Given the description of an element on the screen output the (x, y) to click on. 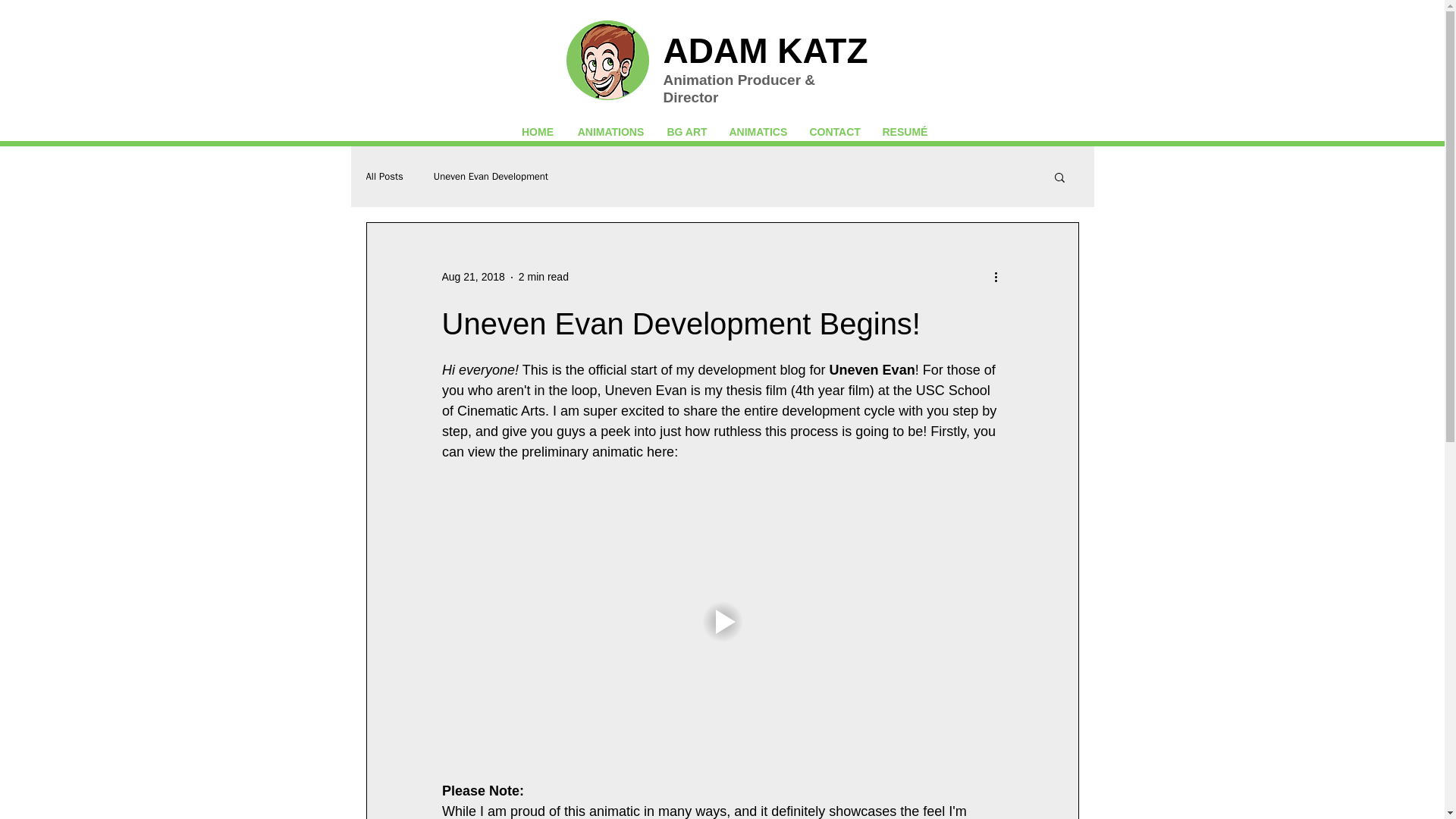
Aug 21, 2018 (472, 276)
Uneven Evan Development (490, 176)
BG ART (686, 131)
ANIMATIONS (610, 131)
All Posts (384, 176)
HOME (537, 131)
2 min read (543, 276)
ANIMATICS (757, 131)
ADAM KATZ (764, 50)
CONTACT (833, 131)
